Given the description of an element on the screen output the (x, y) to click on. 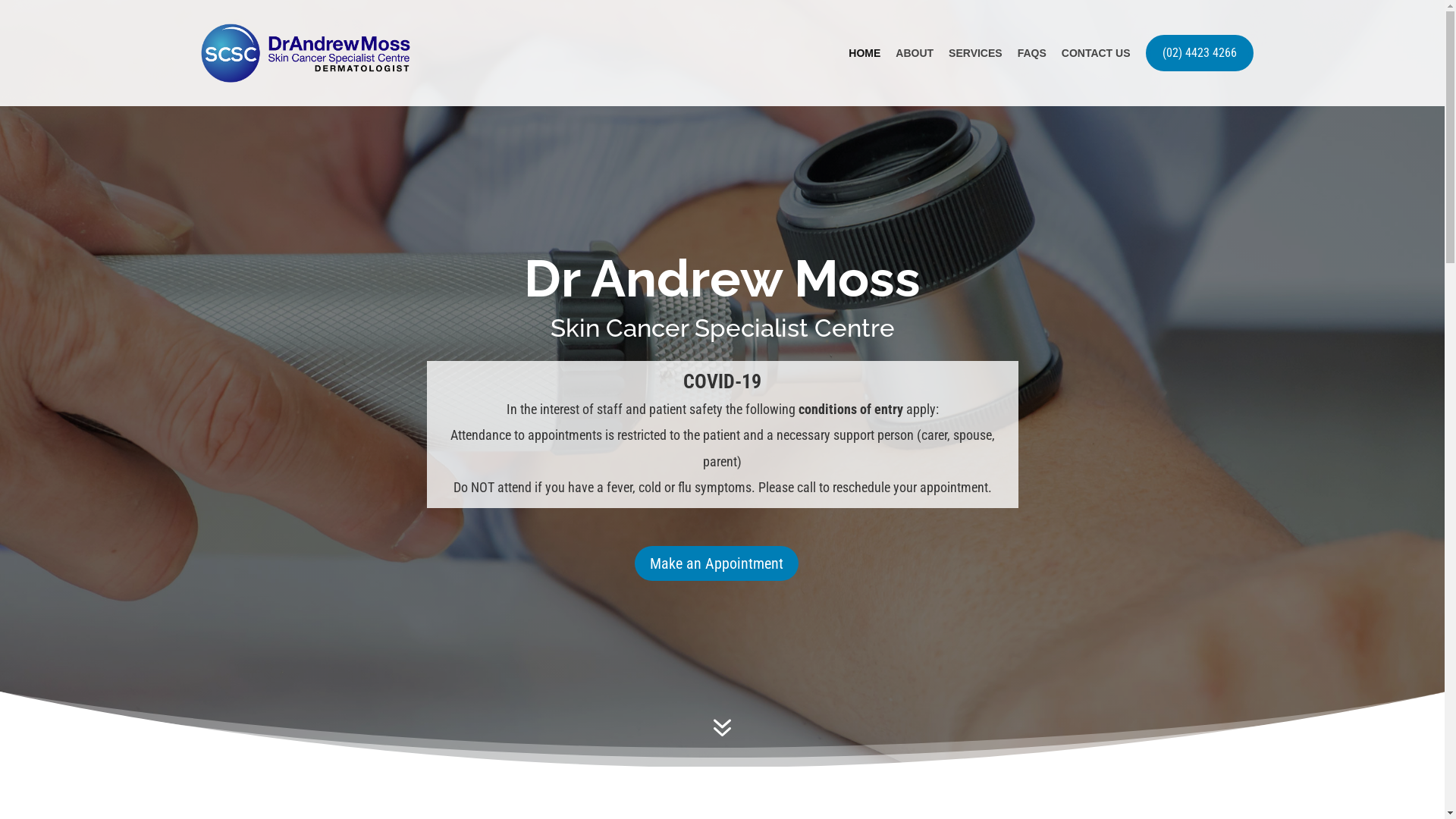
HOME Element type: text (864, 53)
CONTACT US Element type: text (1095, 53)
SERVICES Element type: text (975, 53)
Make an Appointment Element type: text (716, 563)
FAQS Element type: text (1031, 53)
(02) 4423 4266 Element type: text (1198, 53)
ABOUT Element type: text (914, 53)
7 Element type: text (721, 730)
